Given the description of an element on the screen output the (x, y) to click on. 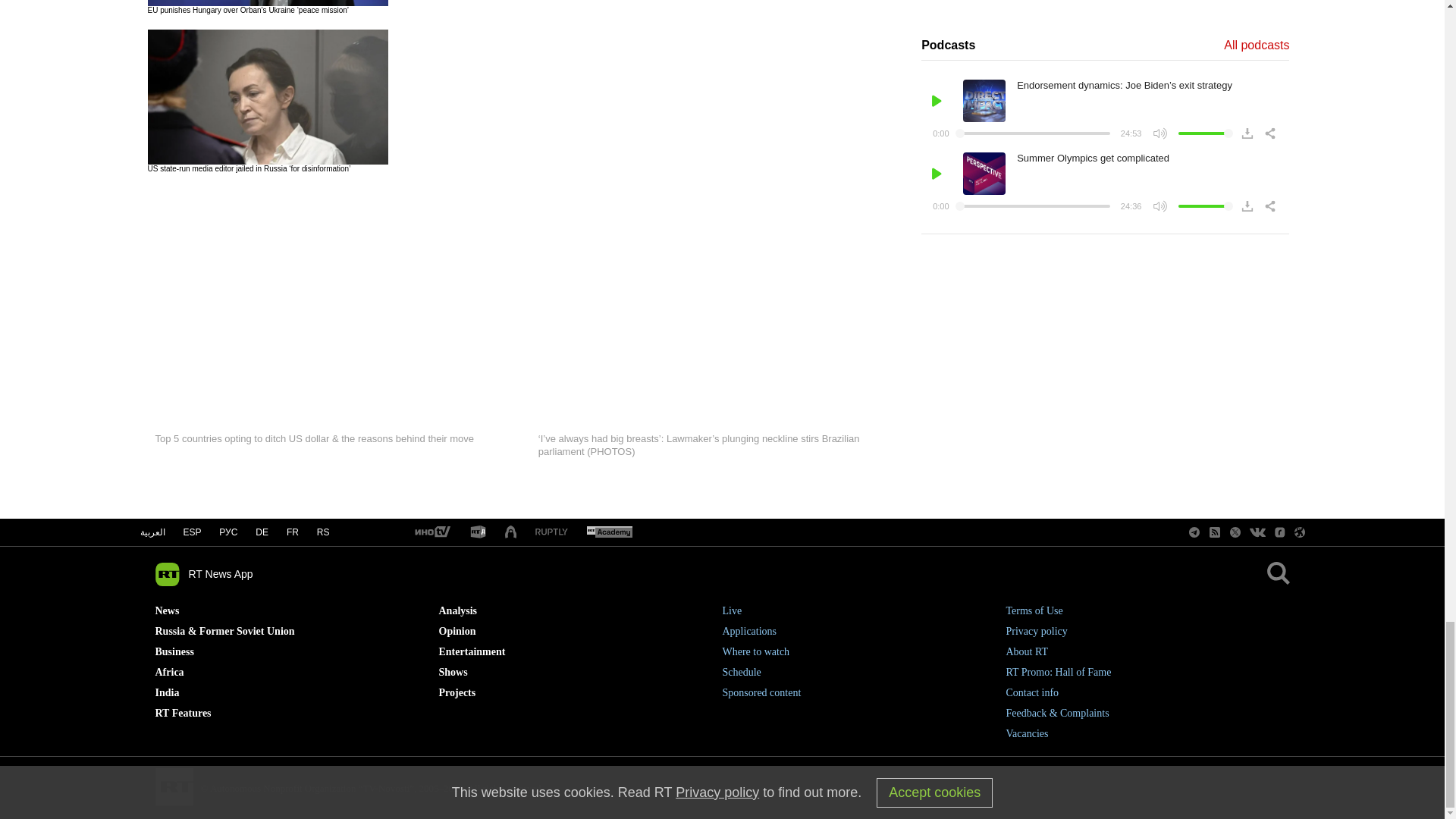
RT  (551, 532)
RT  (608, 532)
RT  (431, 532)
RT  (478, 532)
